Given the description of an element on the screen output the (x, y) to click on. 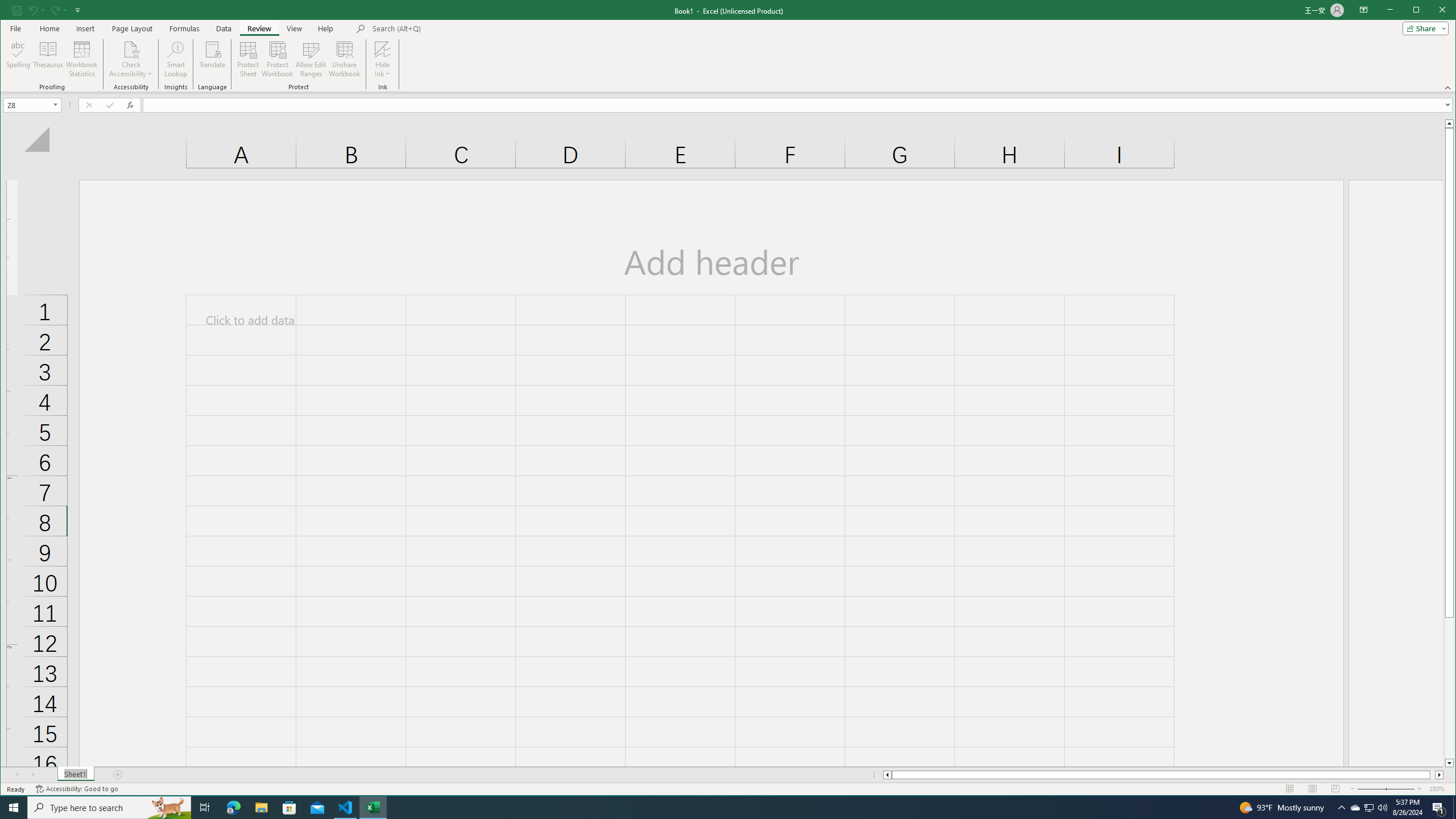
Unshare Workbook (344, 59)
Smart Lookup (176, 59)
